Given the description of an element on the screen output the (x, y) to click on. 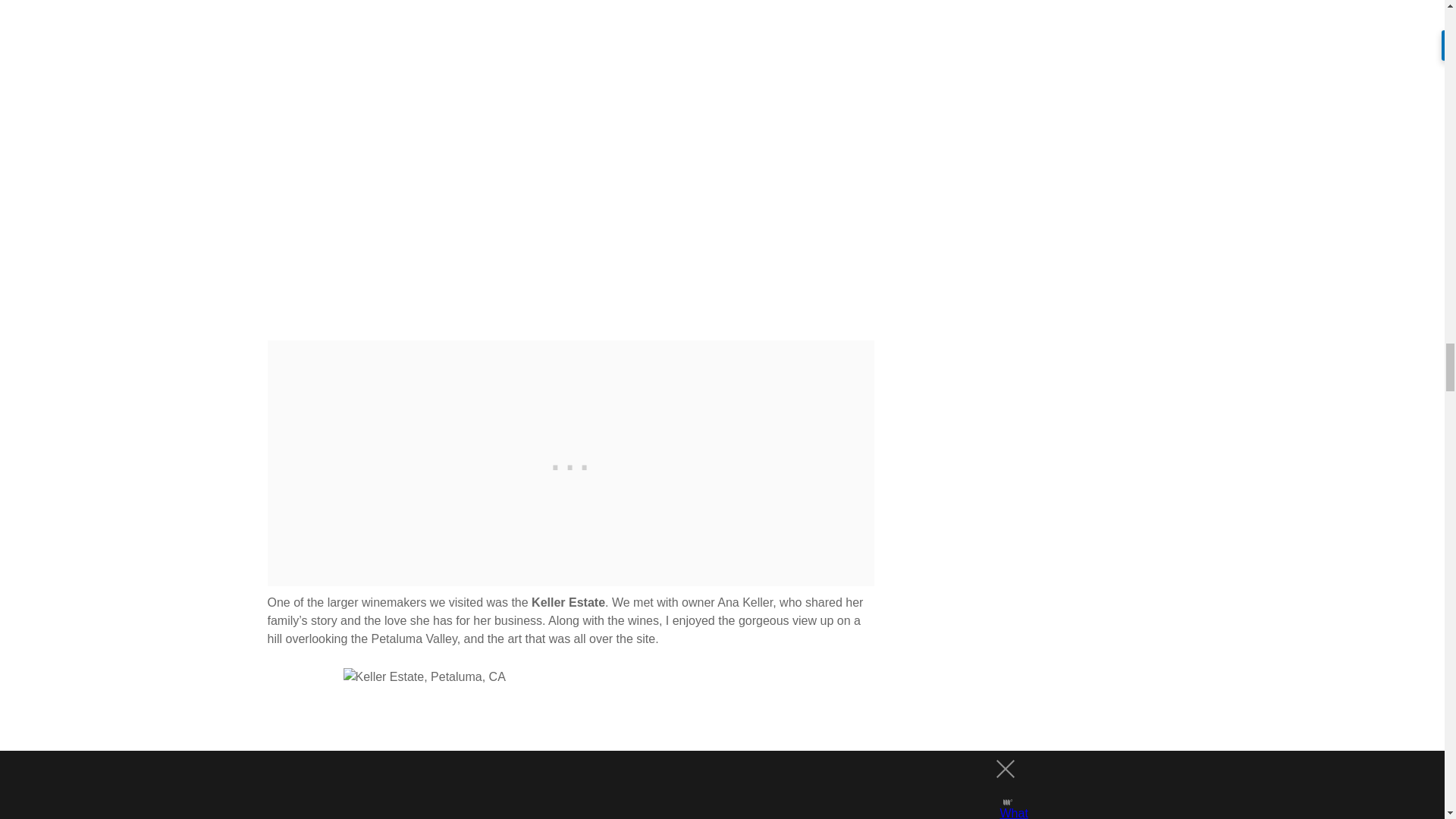
Keller Estate, Petaluma, CA (569, 743)
